Given the description of an element on the screen output the (x, y) to click on. 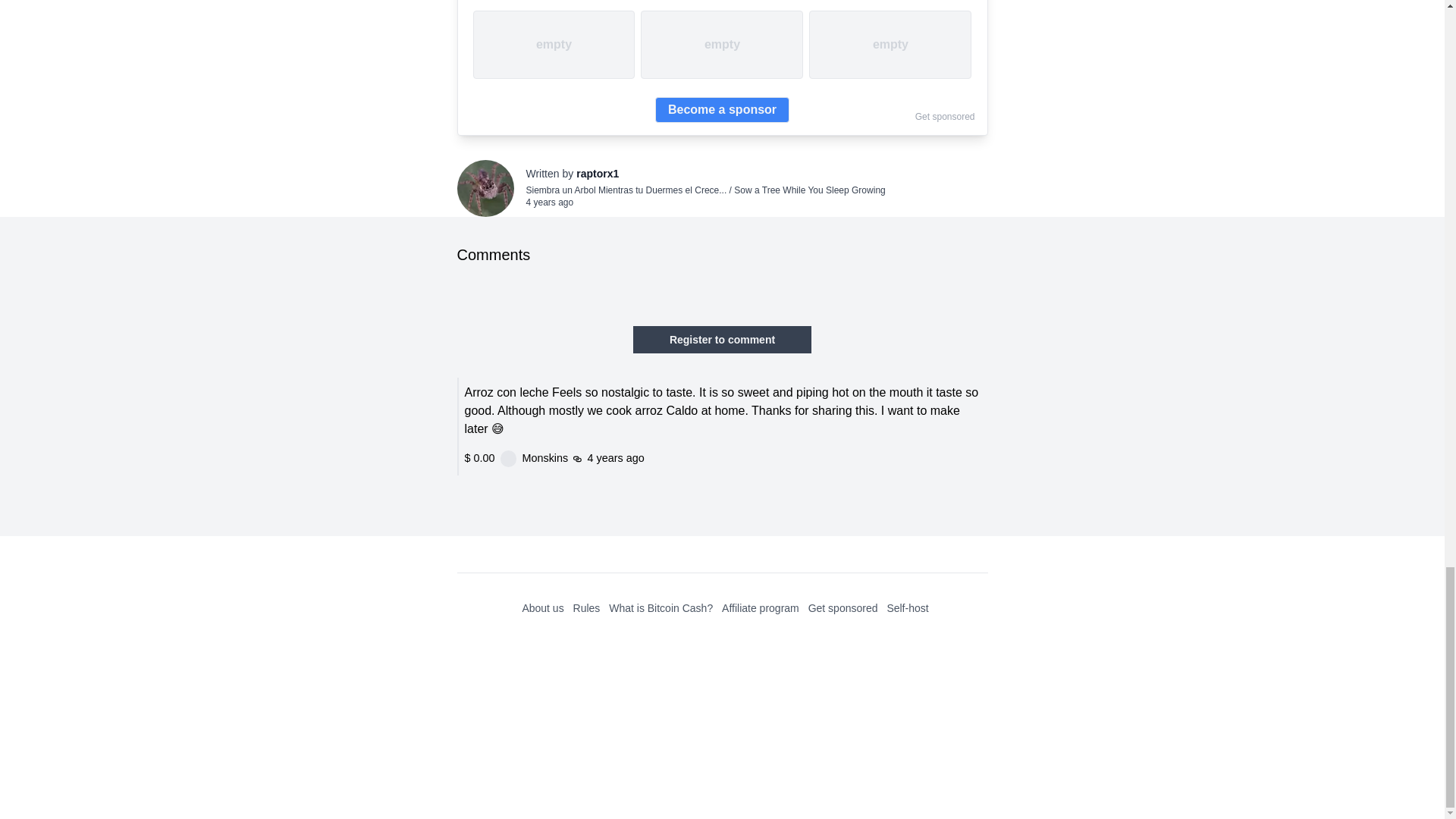
About us (542, 607)
Monskins (605, 720)
Rules (586, 607)
Get sponsored (842, 607)
Affiliate program (760, 607)
2020-05-26 14:46:53 (549, 202)
What is Bitcoin Cash? (660, 607)
Register to comment (721, 338)
2020-05-26 15:06:31 (684, 719)
Get sponsored (945, 116)
